Given the description of an element on the screen output the (x, y) to click on. 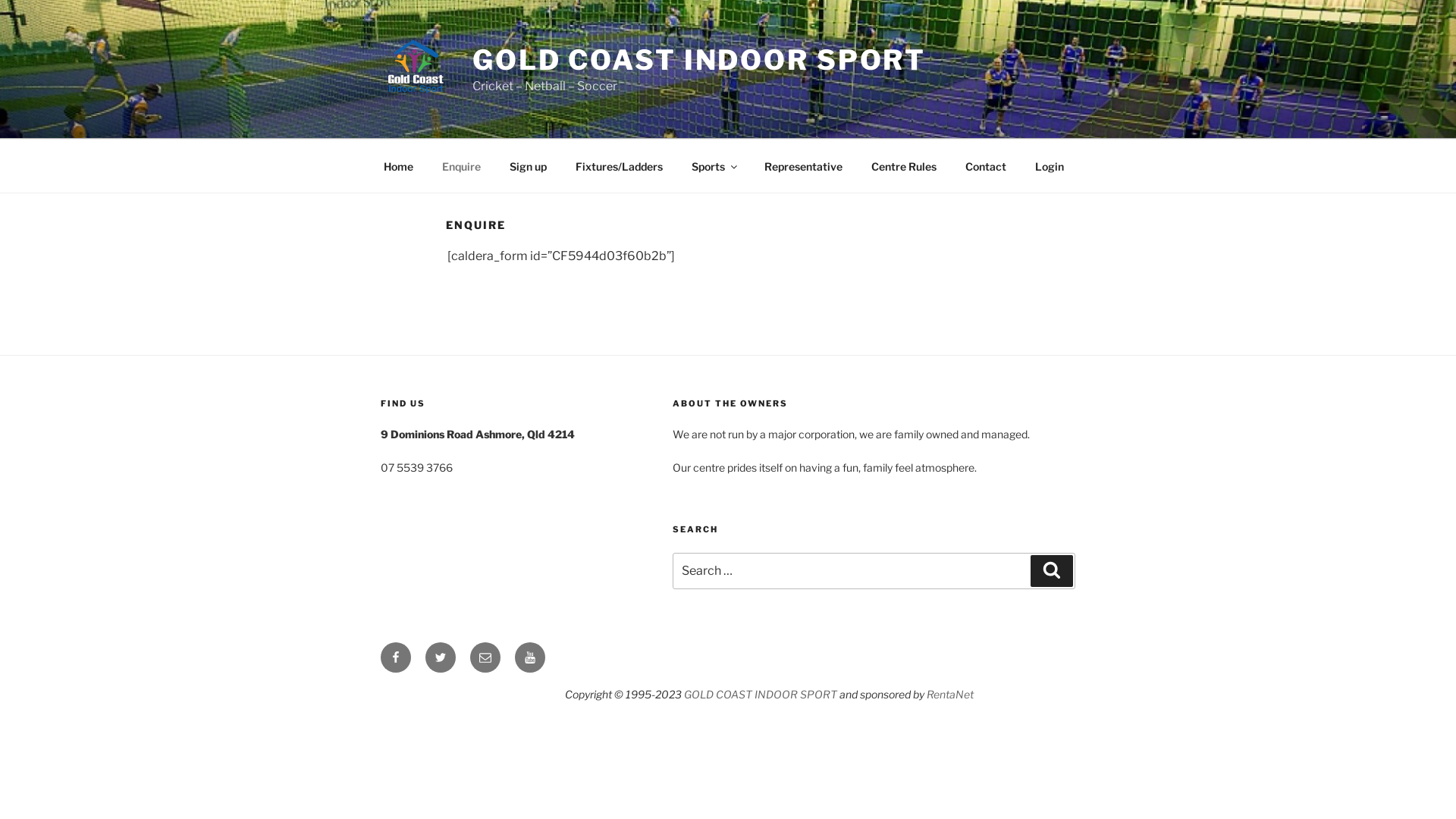
Email Element type: text (485, 657)
Facebook Element type: text (395, 657)
Sports Element type: text (712, 165)
Fixtures/Ladders Element type: text (618, 165)
RentaNet Element type: text (949, 693)
Representative Element type: text (802, 165)
Login Element type: text (1048, 165)
YouTube Element type: text (529, 657)
Twitter Element type: text (440, 657)
Contact Element type: text (985, 165)
Home Element type: text (398, 165)
Sign up Element type: text (527, 165)
GOLD COAST INDOOR SPORT Element type: text (698, 59)
Enquire Element type: text (460, 165)
Centre Rules Element type: text (903, 165)
GOLD COAST INDOOR SPORT Element type: text (760, 693)
Search Element type: text (1051, 570)
